Given the description of an element on the screen output the (x, y) to click on. 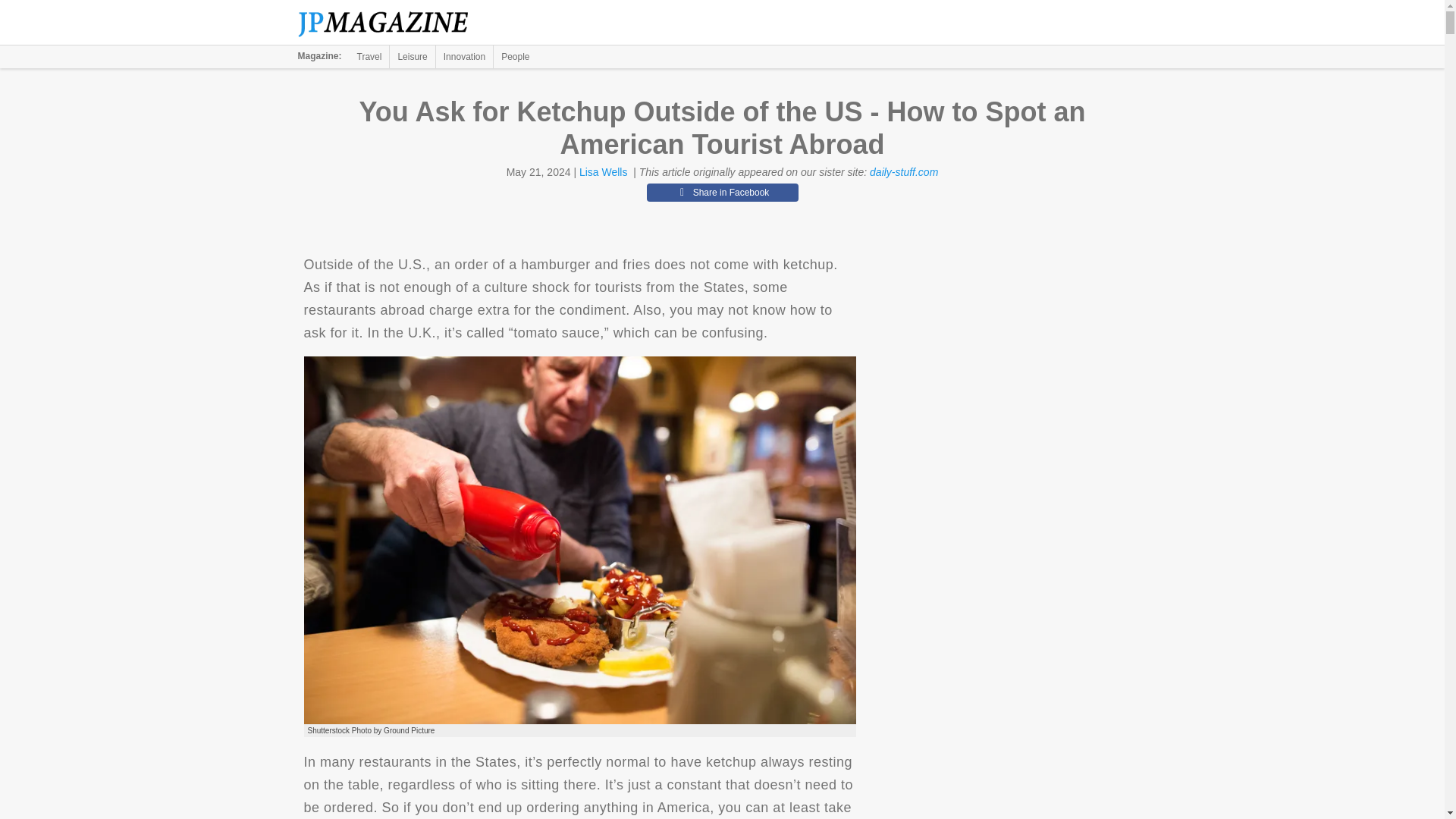
Lisa Wells (603, 172)
Share in Facebook (721, 192)
People (515, 56)
Leisure (411, 56)
Innovation (464, 56)
daily-stuff.com (903, 172)
Travel (369, 56)
The Jerusalem Post Magazine (391, 22)
